Given the description of an element on the screen output the (x, y) to click on. 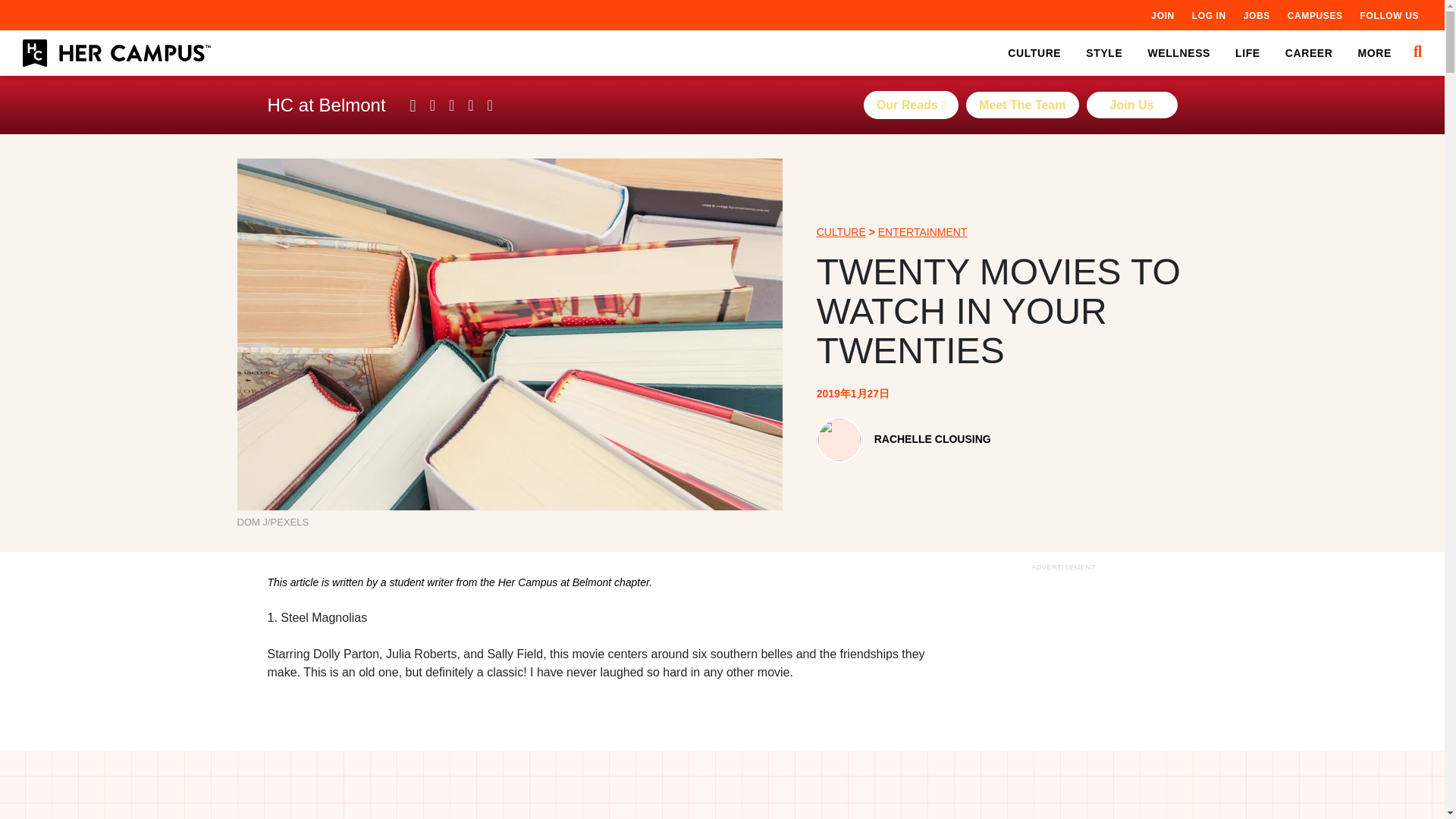
LOG IN (1208, 15)
JOIN (1162, 15)
CAMPUSES (1314, 15)
JOBS (1256, 15)
